Given the description of an element on the screen output the (x, y) to click on. 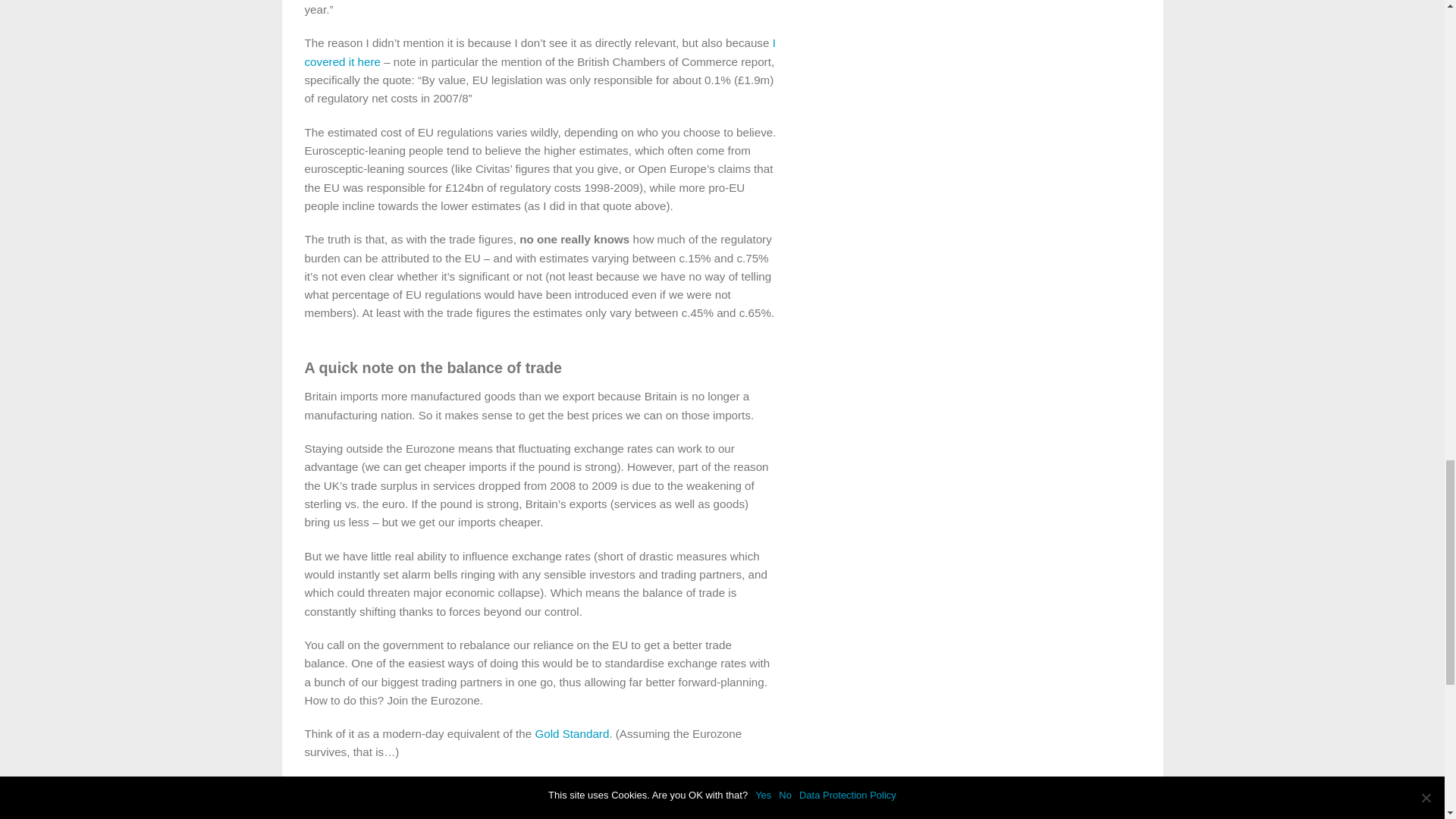
EU (502, 795)
A bit of context (380, 795)
I covered it here (540, 51)
Britain (427, 795)
Economics (467, 795)
Permalink (535, 795)
Gold Standard (571, 733)
